Given the description of an element on the screen output the (x, y) to click on. 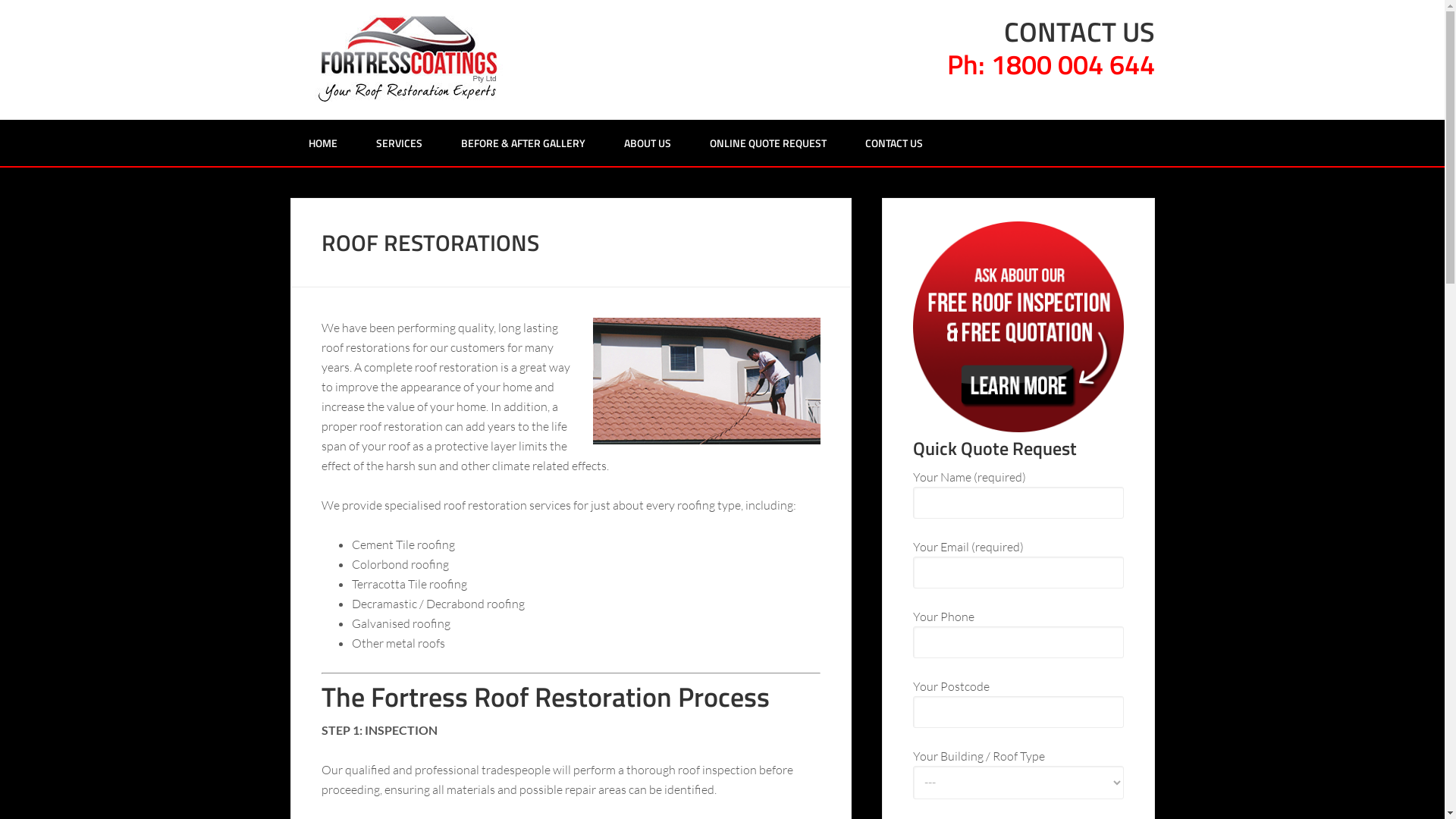
ABOUT US Element type: text (646, 142)
CONTACT US Element type: text (893, 142)
SERVICES Element type: text (398, 142)
ONLINE QUOTE REQUEST Element type: text (767, 142)
HOME Element type: text (321, 142)
Fortress Roof Restorations Element type: text (410, 58)
BEFORE & AFTER GALLERY Element type: text (522, 142)
